Given the description of an element on the screen output the (x, y) to click on. 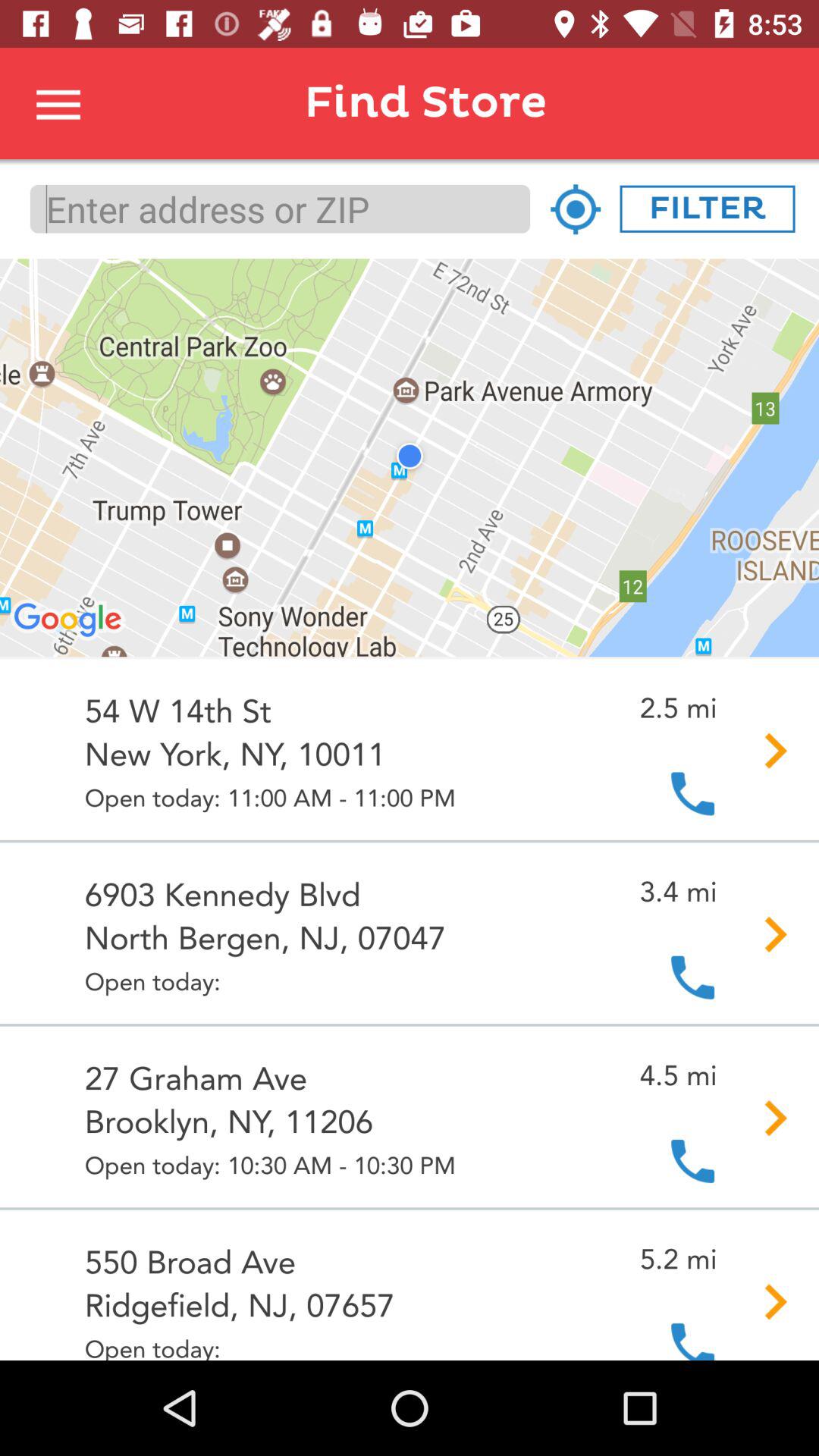
gps location (575, 208)
